Given the description of an element on the screen output the (x, y) to click on. 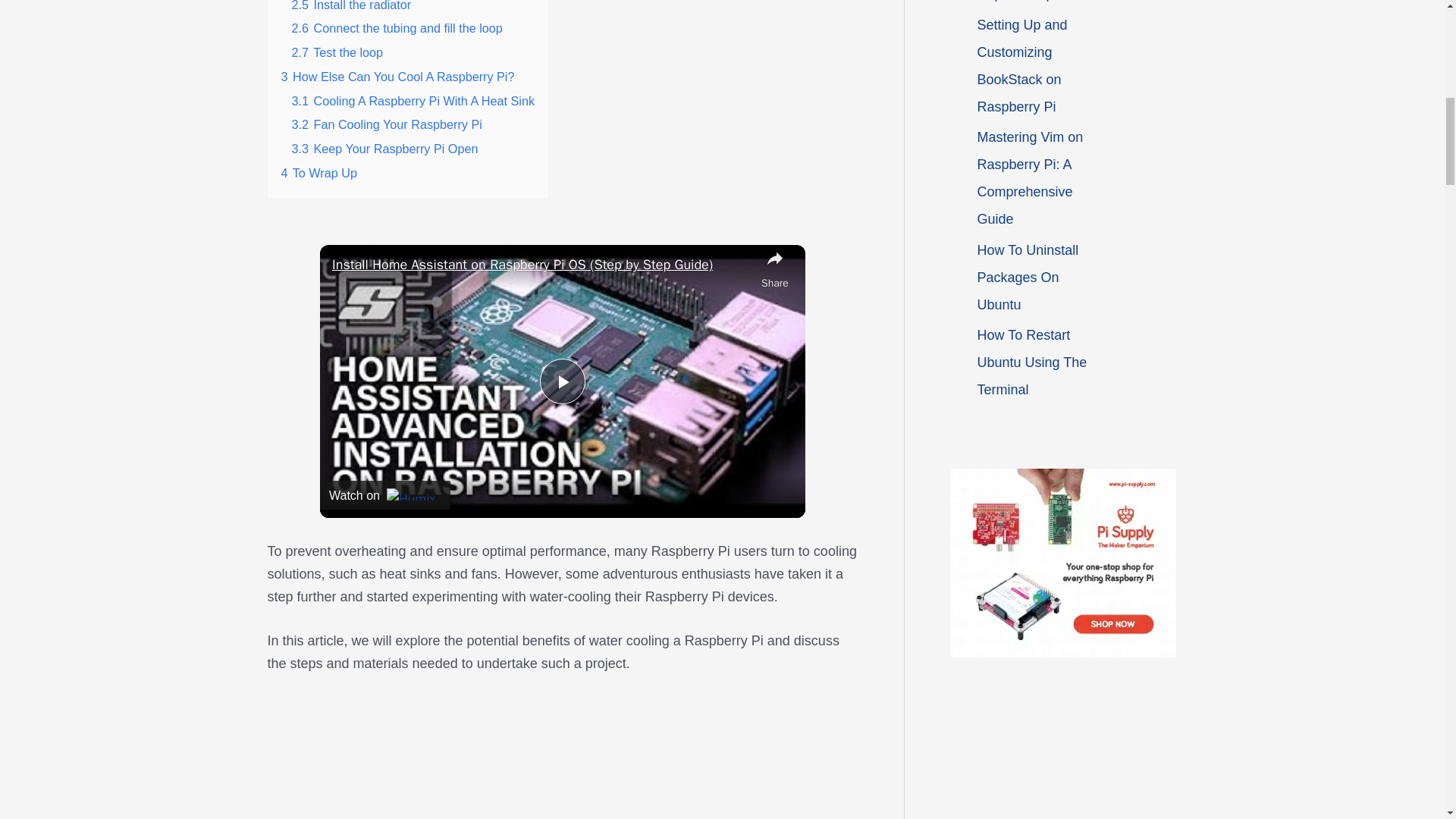
share (775, 269)
Play Video (562, 381)
